Given the description of an element on the screen output the (x, y) to click on. 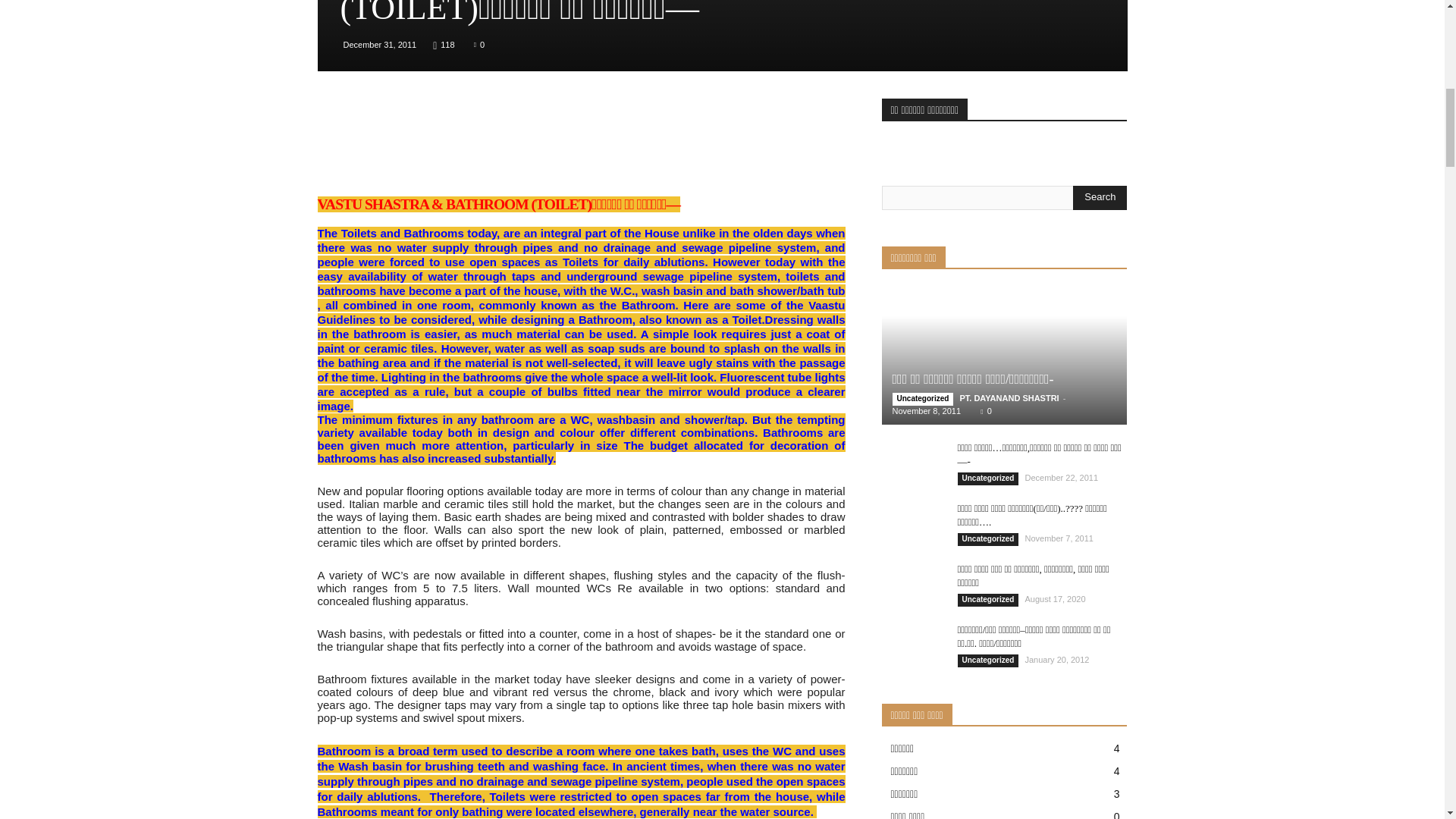
0 (479, 44)
Search (1099, 197)
